Given the description of an element on the screen output the (x, y) to click on. 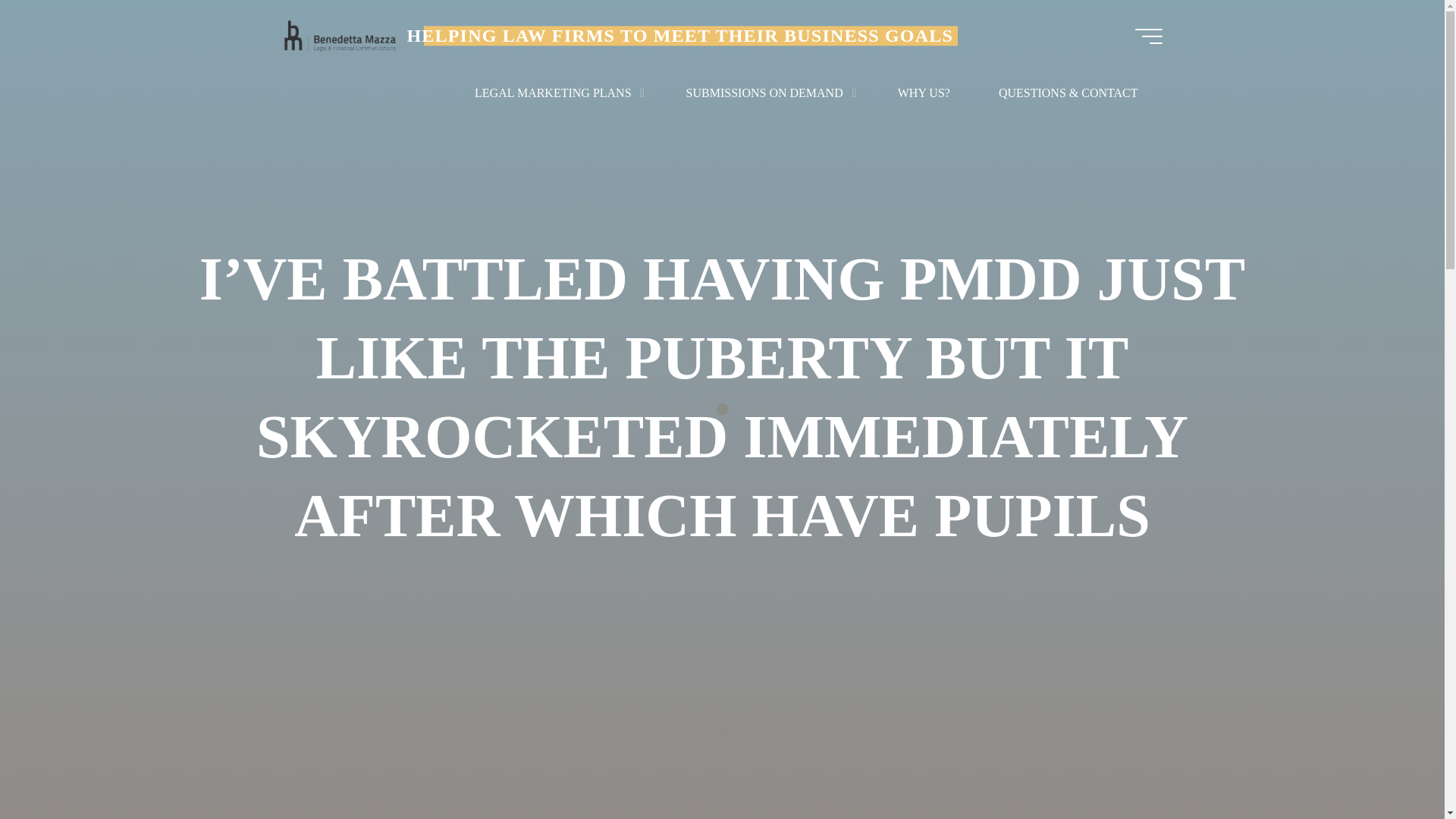
HELPING LAW FIRMS TO MEET THEIR BUSINESS GOALS (679, 35)
LEGAL MARKETING PLANS (555, 92)
HELPING LAW FIRMS TO MEET THEIR BUSINESS GOALS (339, 35)
WHY US? (923, 92)
Leggi tutto (721, 724)
SUBMISSIONS ON DEMAND (767, 92)
